Given the description of an element on the screen output the (x, y) to click on. 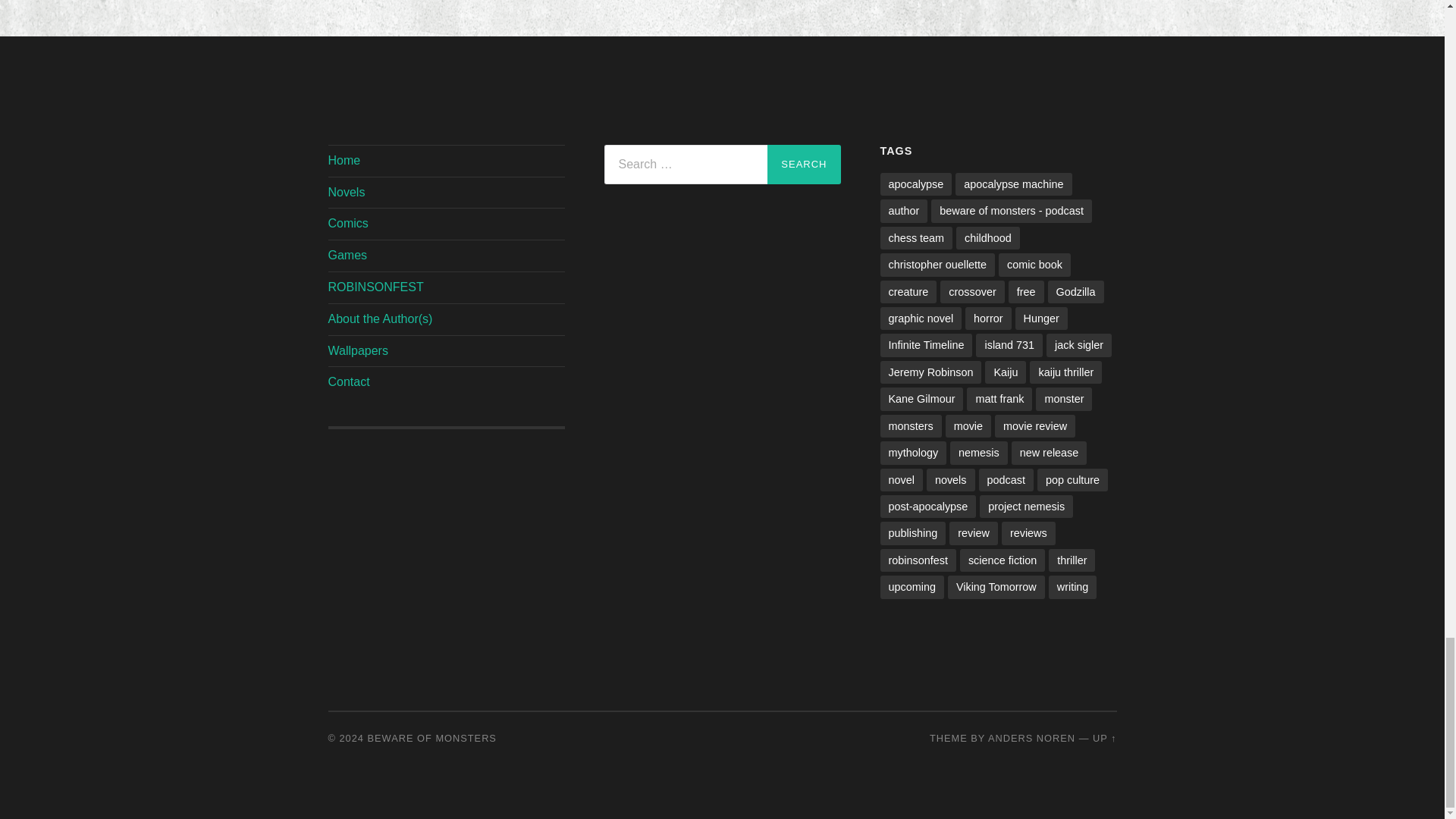
Search (803, 164)
To the top (1104, 737)
Search (803, 164)
